Given the description of an element on the screen output the (x, y) to click on. 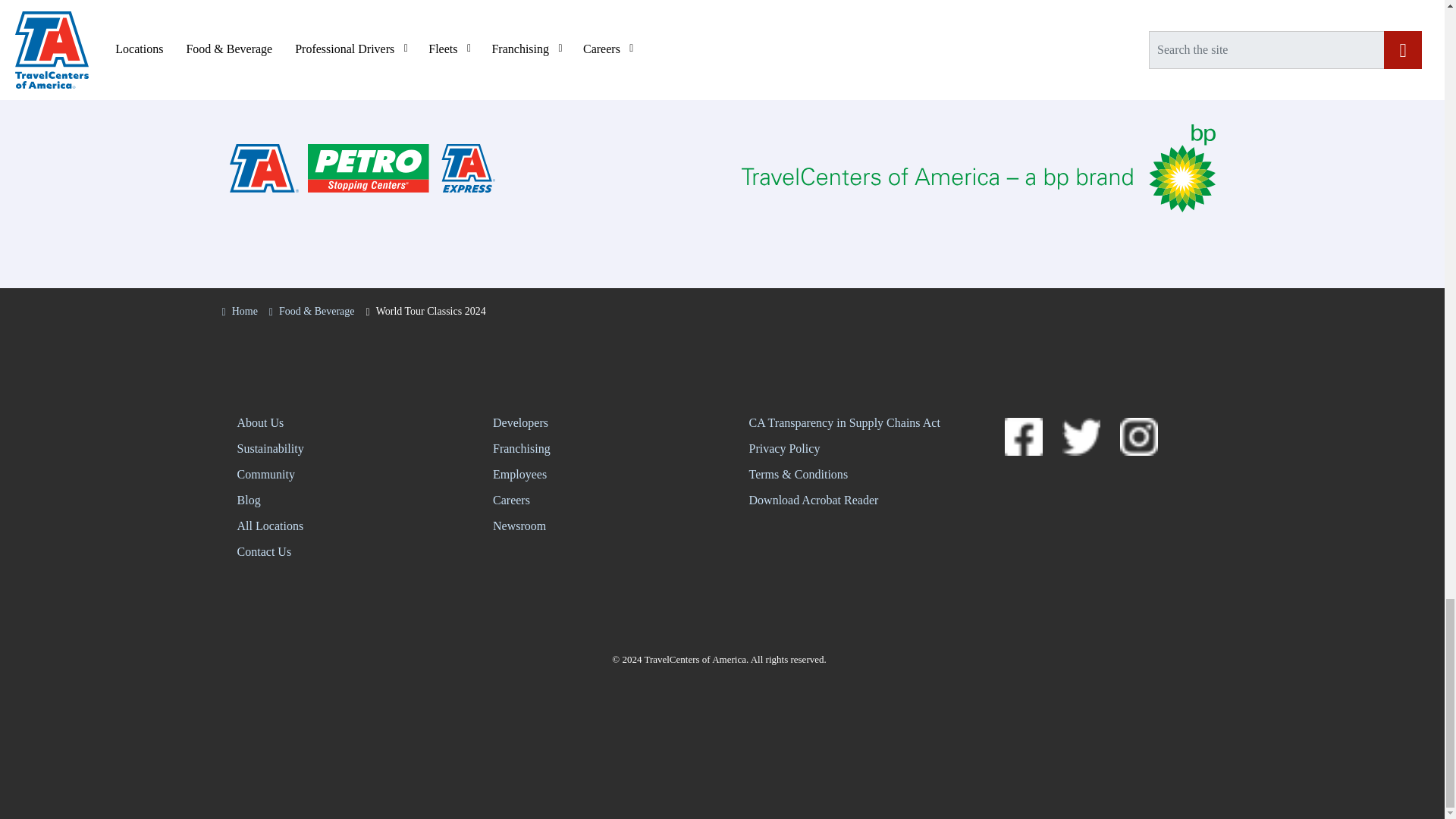
Blog (337, 500)
Community (337, 475)
All Locations (337, 525)
About Us (337, 423)
Sustainability (337, 448)
Find Your Nearest Travel Center (333, 27)
Home (239, 310)
